Given the description of an element on the screen output the (x, y) to click on. 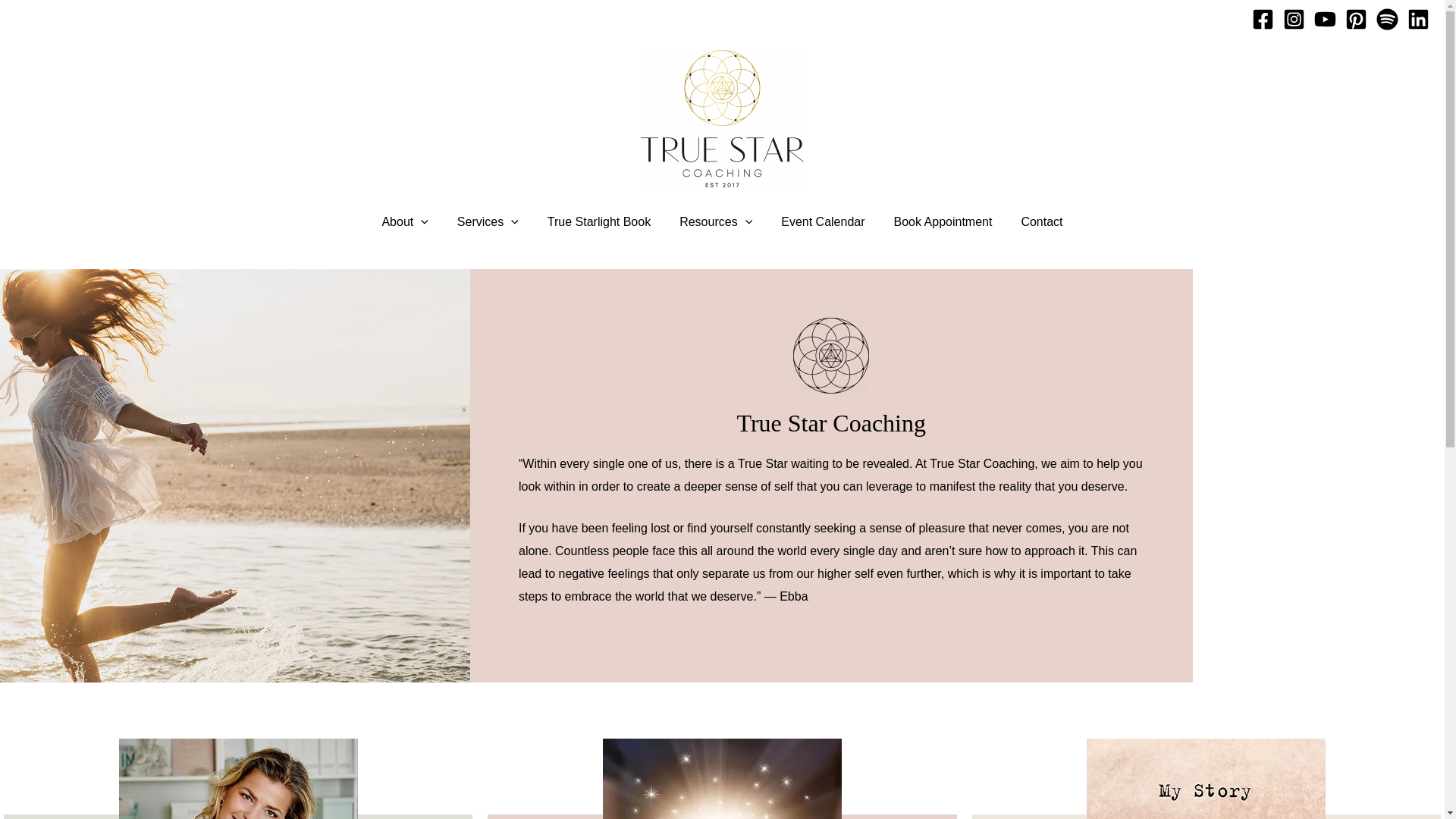
Contact (1041, 221)
True Starlight Book (598, 221)
Book Appointment (943, 221)
About (404, 221)
Resources (716, 221)
Event Calendar (823, 221)
Services (487, 221)
